Given the description of an element on the screen output the (x, y) to click on. 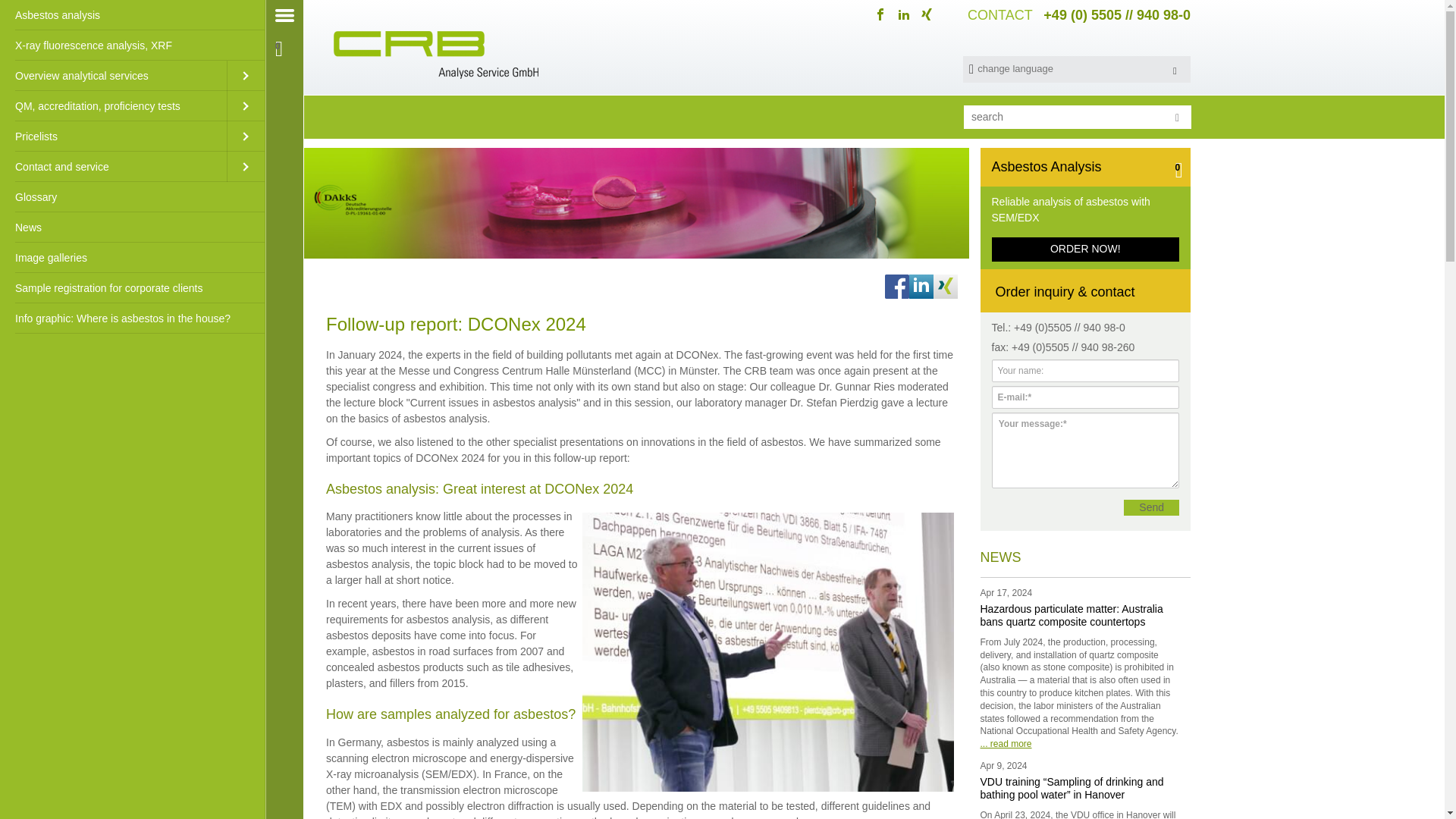
Overview analytical services (113, 75)
QM, accreditation, proficiency tests (113, 105)
Overview analytical services (113, 75)
Asbestos analysis (132, 15)
Contact and service (113, 166)
QM, accreditation, proficiency tests (113, 105)
X-ray fluorescence analysis, XRF (132, 45)
Pricelists (113, 136)
